Given the description of an element on the screen output the (x, y) to click on. 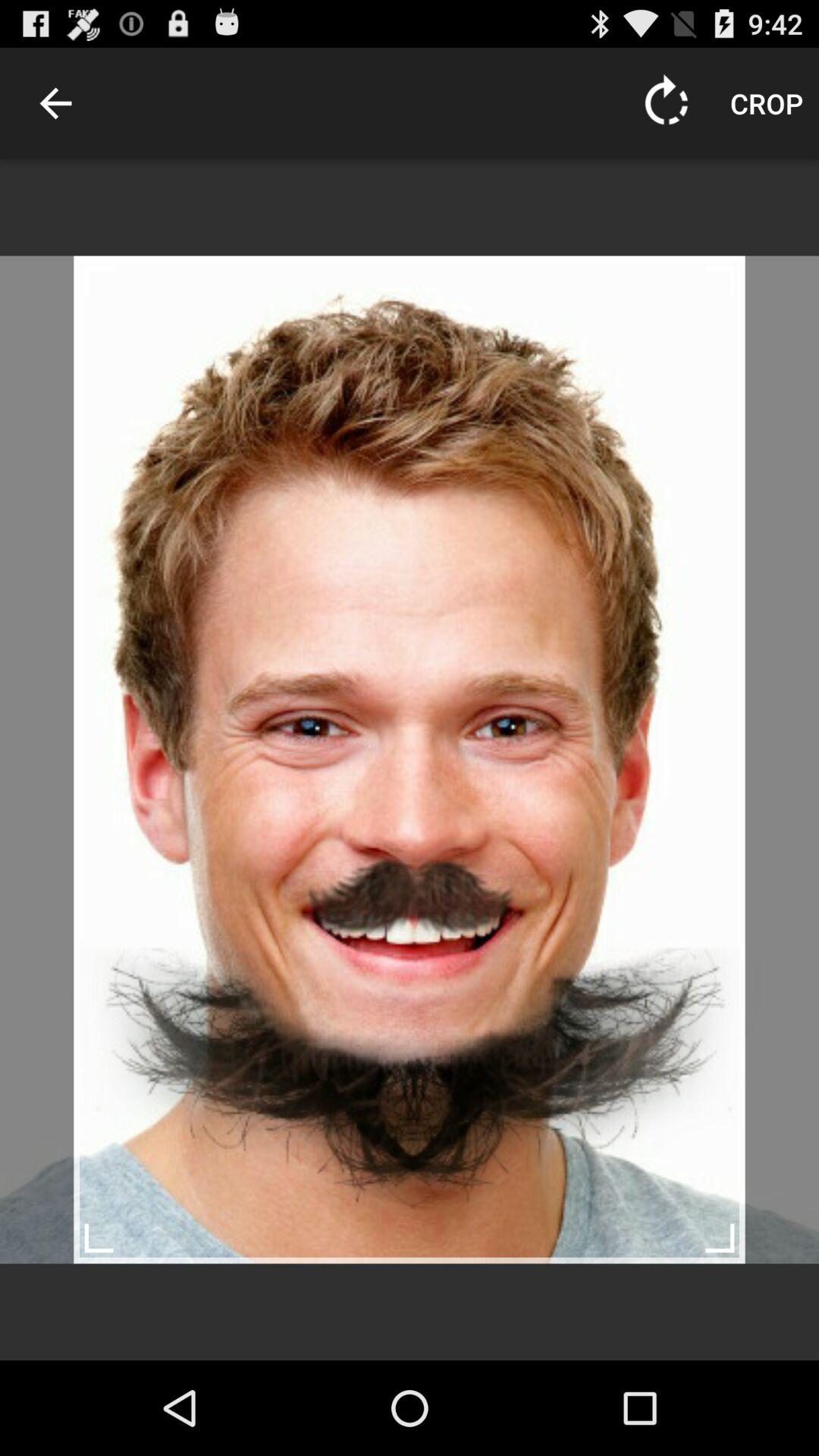
click the item next to crop (666, 103)
